Given the description of an element on the screen output the (x, y) to click on. 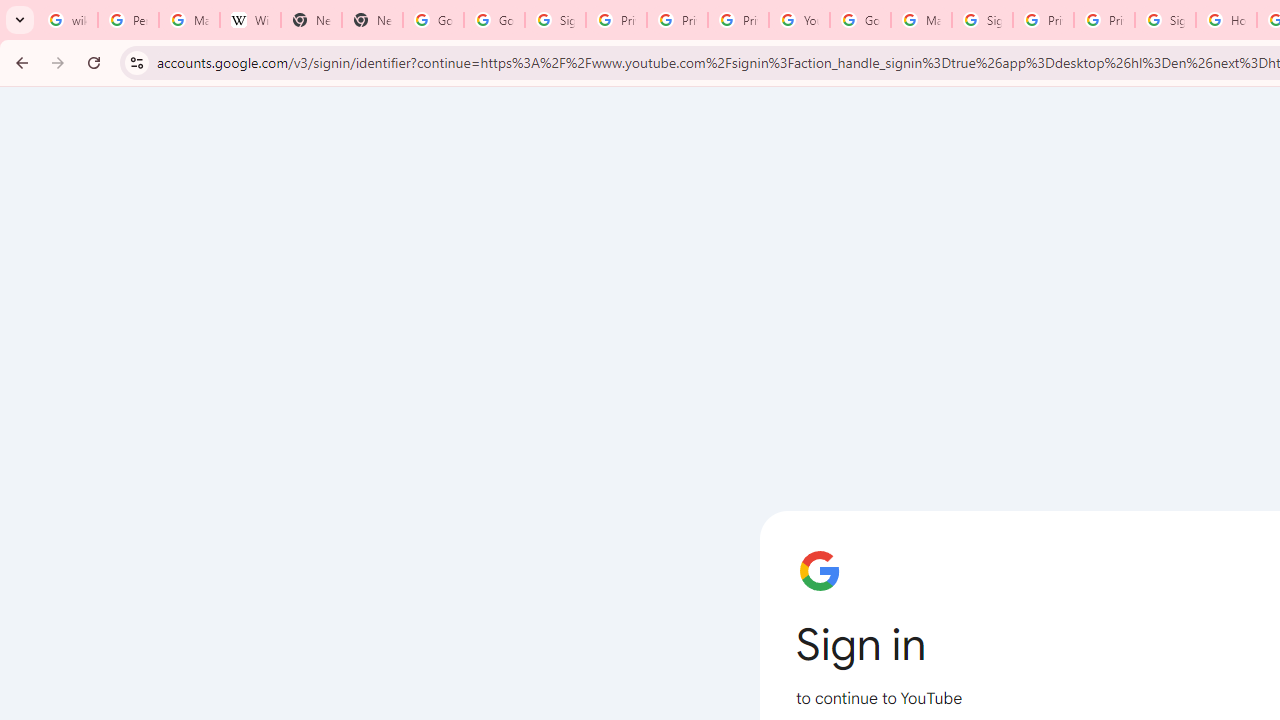
New Tab (372, 20)
Sign in - Google Accounts (555, 20)
Google Drive: Sign-in (493, 20)
New Tab (310, 20)
Wikipedia:Edit requests - Wikipedia (250, 20)
